Given the description of an element on the screen output the (x, y) to click on. 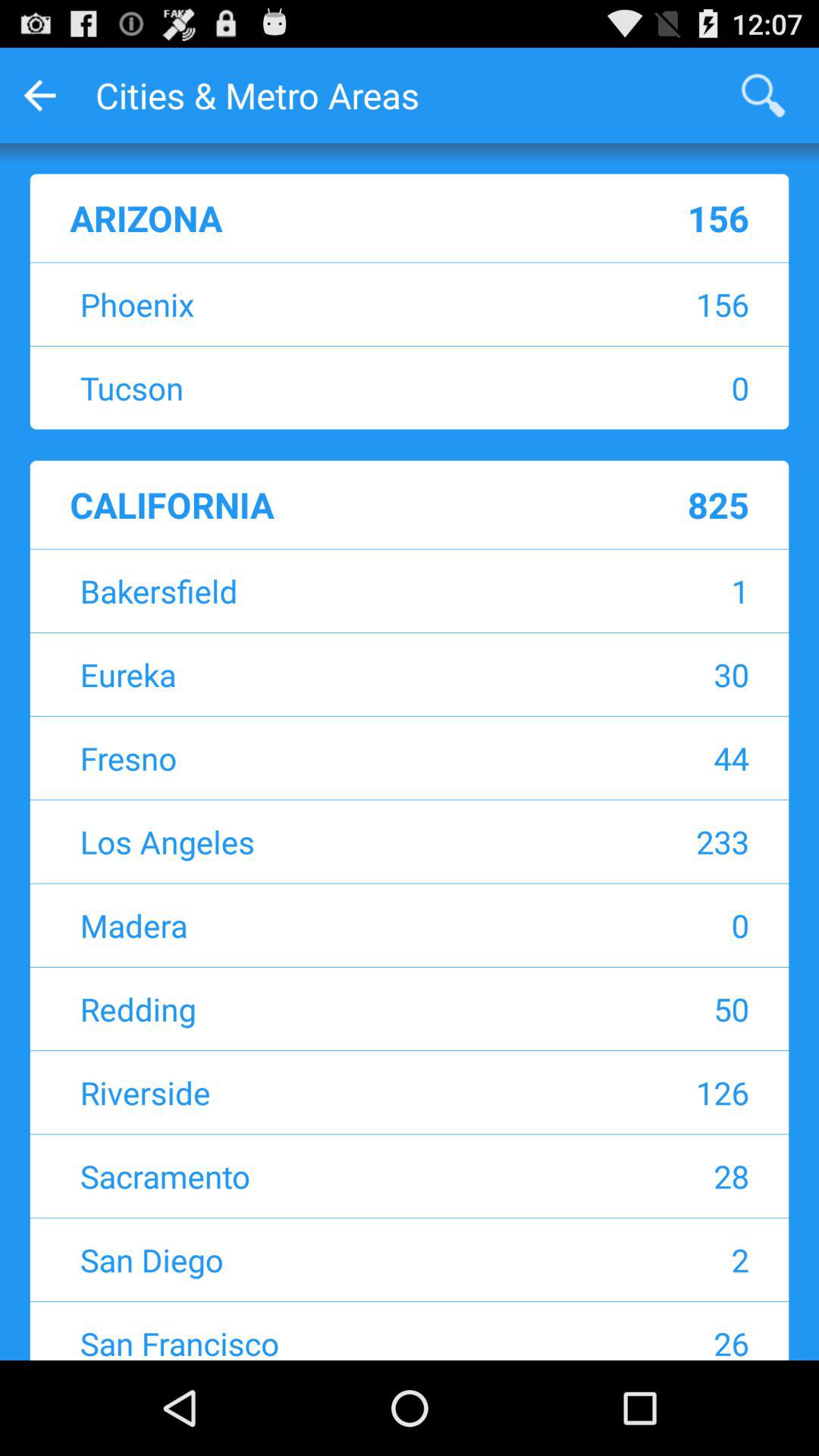
turn on the icon to the right of the california item (649, 504)
